Given the description of an element on the screen output the (x, y) to click on. 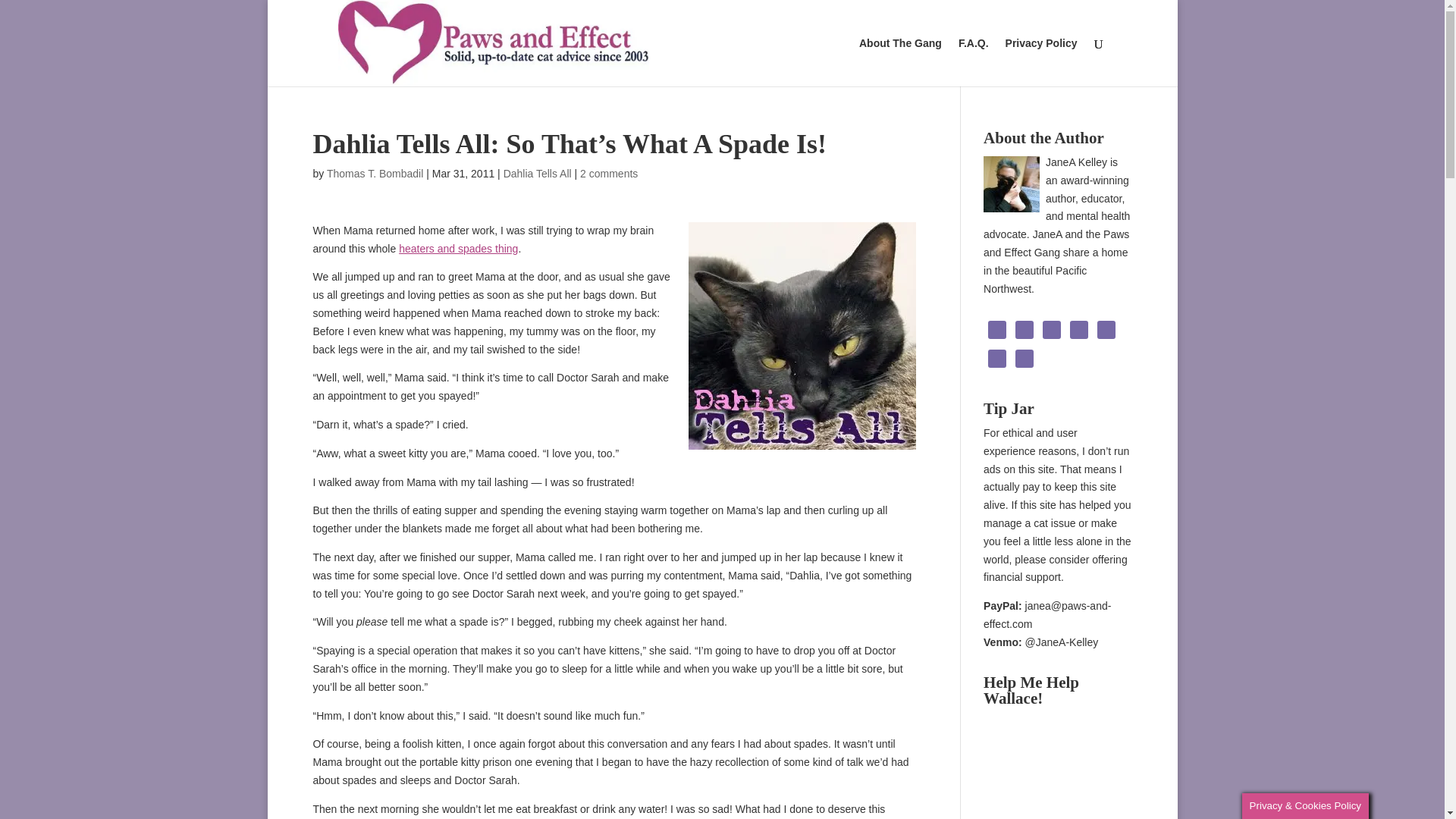
heaters and spades thing (458, 248)
2 comments (608, 173)
Dahlia Tells All: The Heat Comes On (458, 248)
Dahlia Tells All (537, 173)
Privacy Policy (1041, 61)
About The Gang (900, 61)
Posts by Thomas T. Bombadil (374, 173)
Thomas T. Bombadil (374, 173)
